Given the description of an element on the screen output the (x, y) to click on. 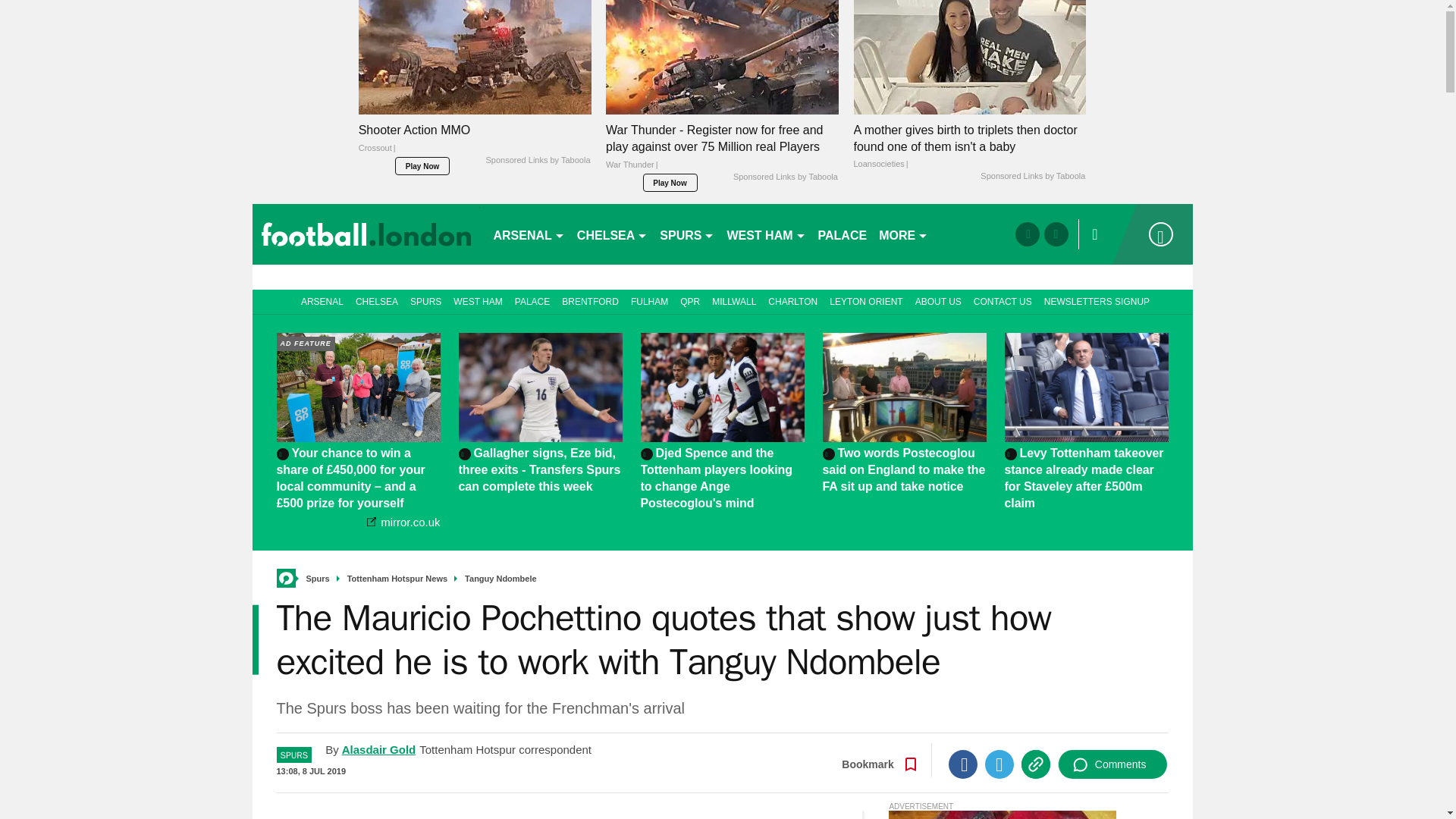
Twitter (999, 764)
WEST HAM (765, 233)
ARSENAL (528, 233)
SPURS (686, 233)
Facebook (962, 764)
Sponsored Links by Taboola (536, 160)
Shooter Action MMO (474, 57)
Shooter Action MMO (474, 143)
Play Now (670, 182)
twitter (1055, 233)
facebook (1026, 233)
footballlondon (365, 233)
Play Now (421, 166)
